Given the description of an element on the screen output the (x, y) to click on. 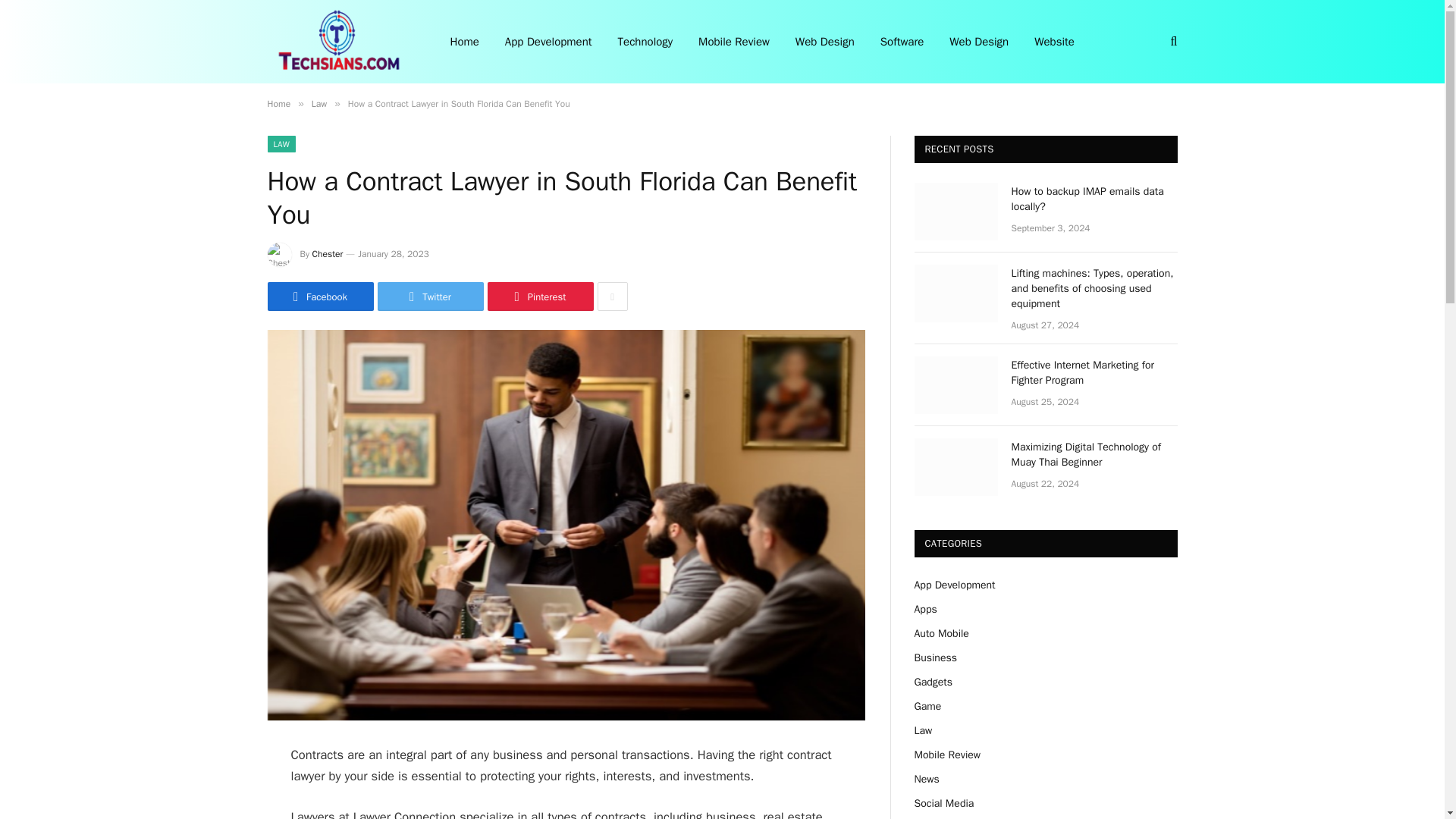
Facebook (319, 296)
Web Design (979, 41)
Share on Facebook (319, 296)
App Development (548, 41)
Show More Social Sharing (611, 296)
Technology (645, 41)
Twitter (430, 296)
LAW (280, 143)
Home (277, 103)
